Given the description of an element on the screen output the (x, y) to click on. 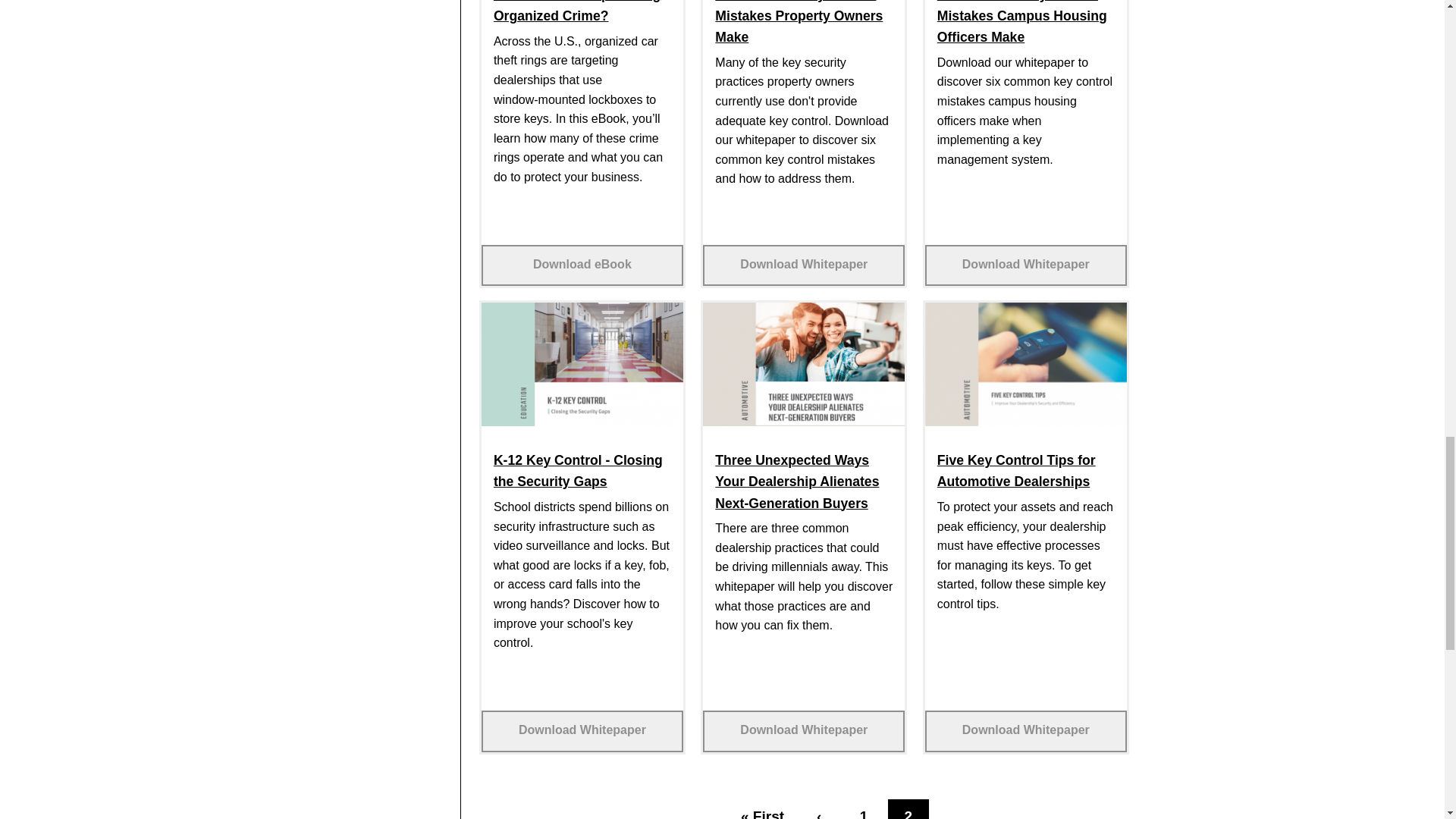
Go to previous page (818, 809)
Go to first page (762, 809)
Go to page 1 (863, 809)
Current page (908, 809)
